Given the description of an element on the screen output the (x, y) to click on. 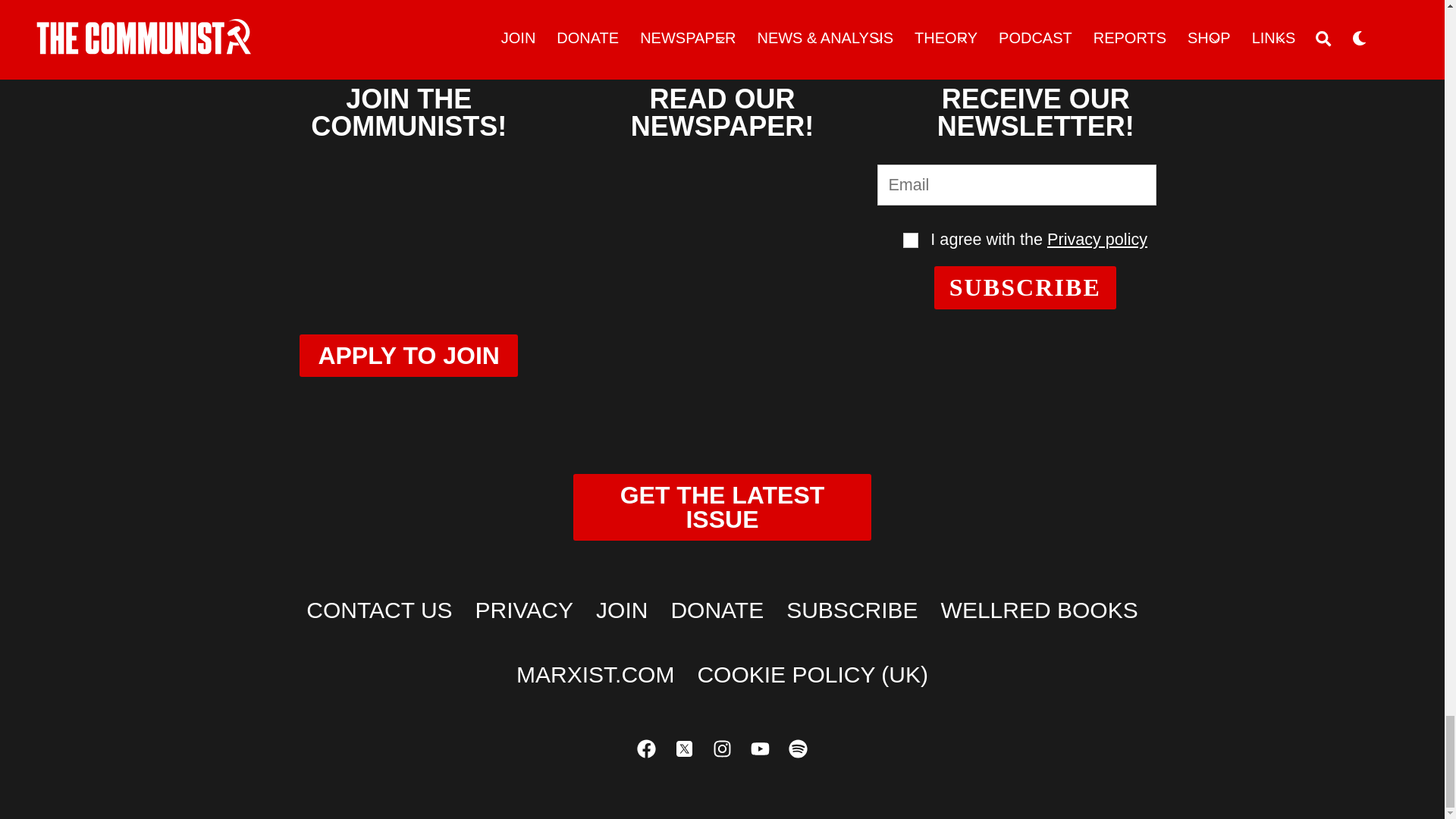
Terms and conditions (910, 240)
on (910, 240)
Privacy policy (1096, 239)
